Given the description of an element on the screen output the (x, y) to click on. 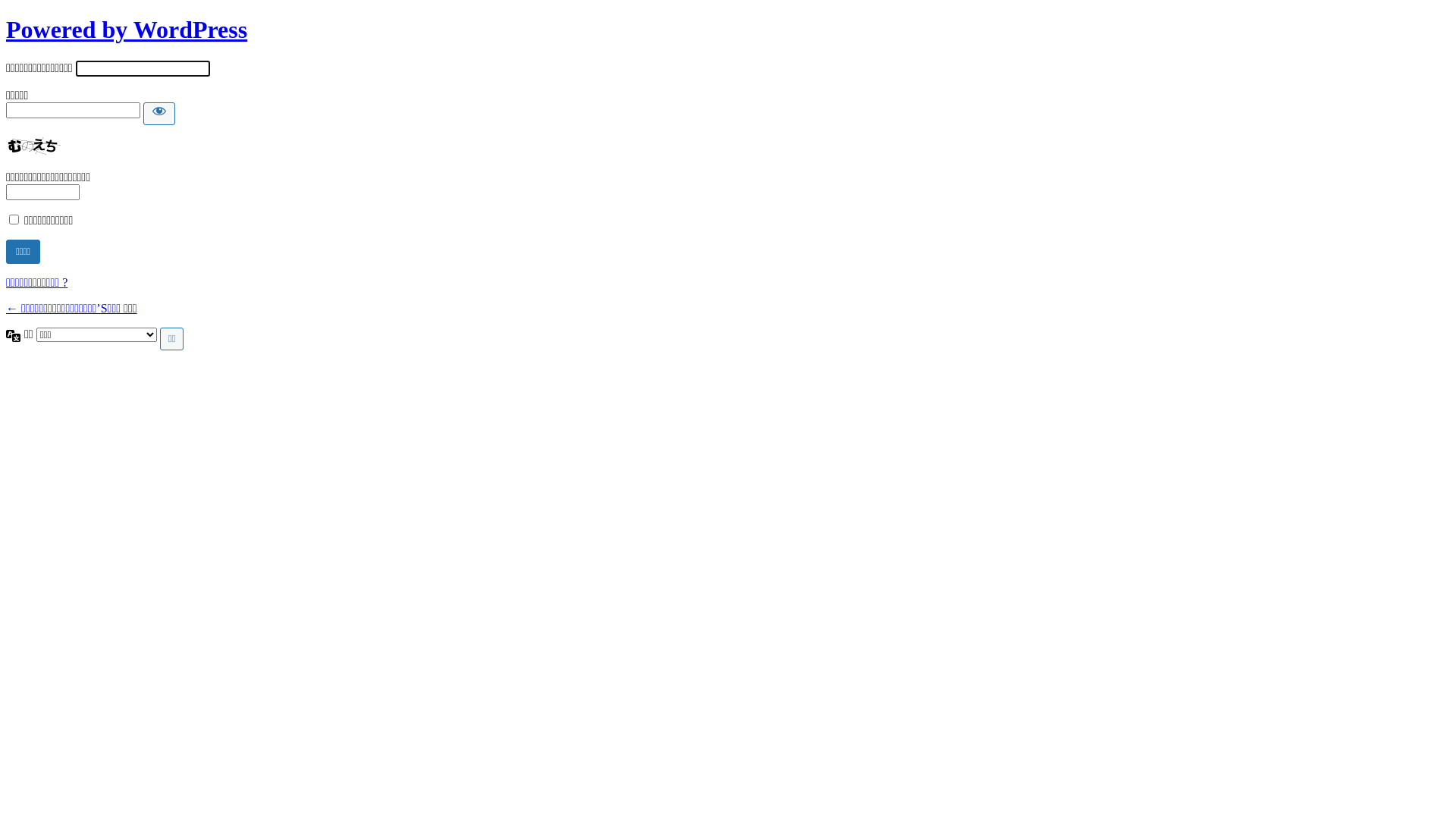
Powered by WordPress Element type: text (126, 29)
